Given the description of an element on the screen output the (x, y) to click on. 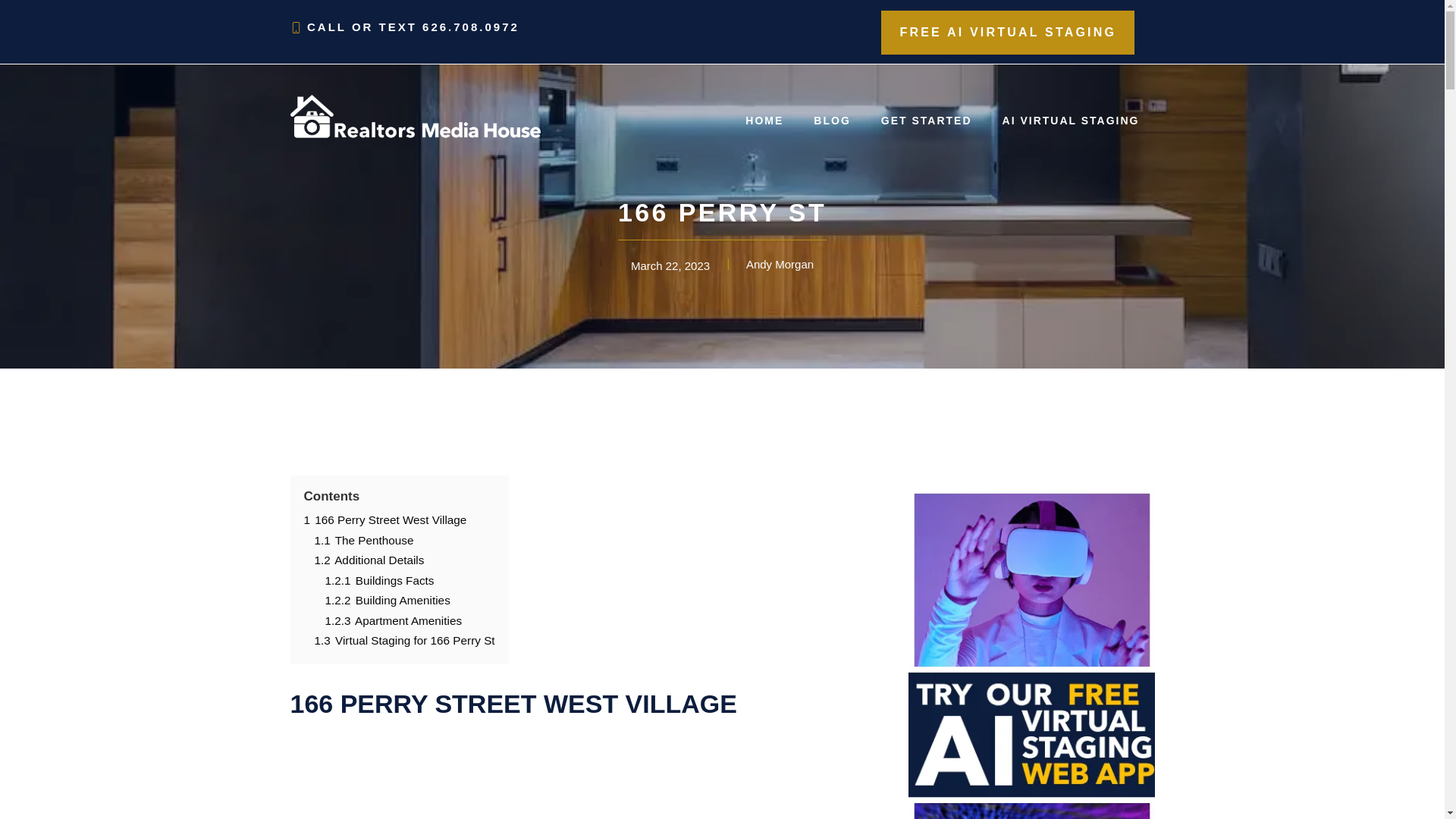
1.1 The Penthouse Element type: text (363, 539)
626.708.0972 Element type: text (470, 26)
1.2 Additional Details Element type: text (368, 559)
FREE AI VIRTUAL STAGING Element type: text (1007, 32)
1.2.3 Apartment Amenities Element type: text (392, 620)
AI VIRTUAL STAGING Element type: text (1070, 120)
HOME Element type: text (764, 120)
1 166 Perry Street West Village Element type: text (384, 519)
BLOG Element type: text (831, 120)
1.3 Virtual Staging for 166 Perry St Element type: text (403, 639)
1.2.1 Buildings Facts Element type: text (378, 580)
1.2.2 Building Amenities Element type: text (386, 599)
GET STARTED Element type: text (926, 120)
